Given the description of an element on the screen output the (x, y) to click on. 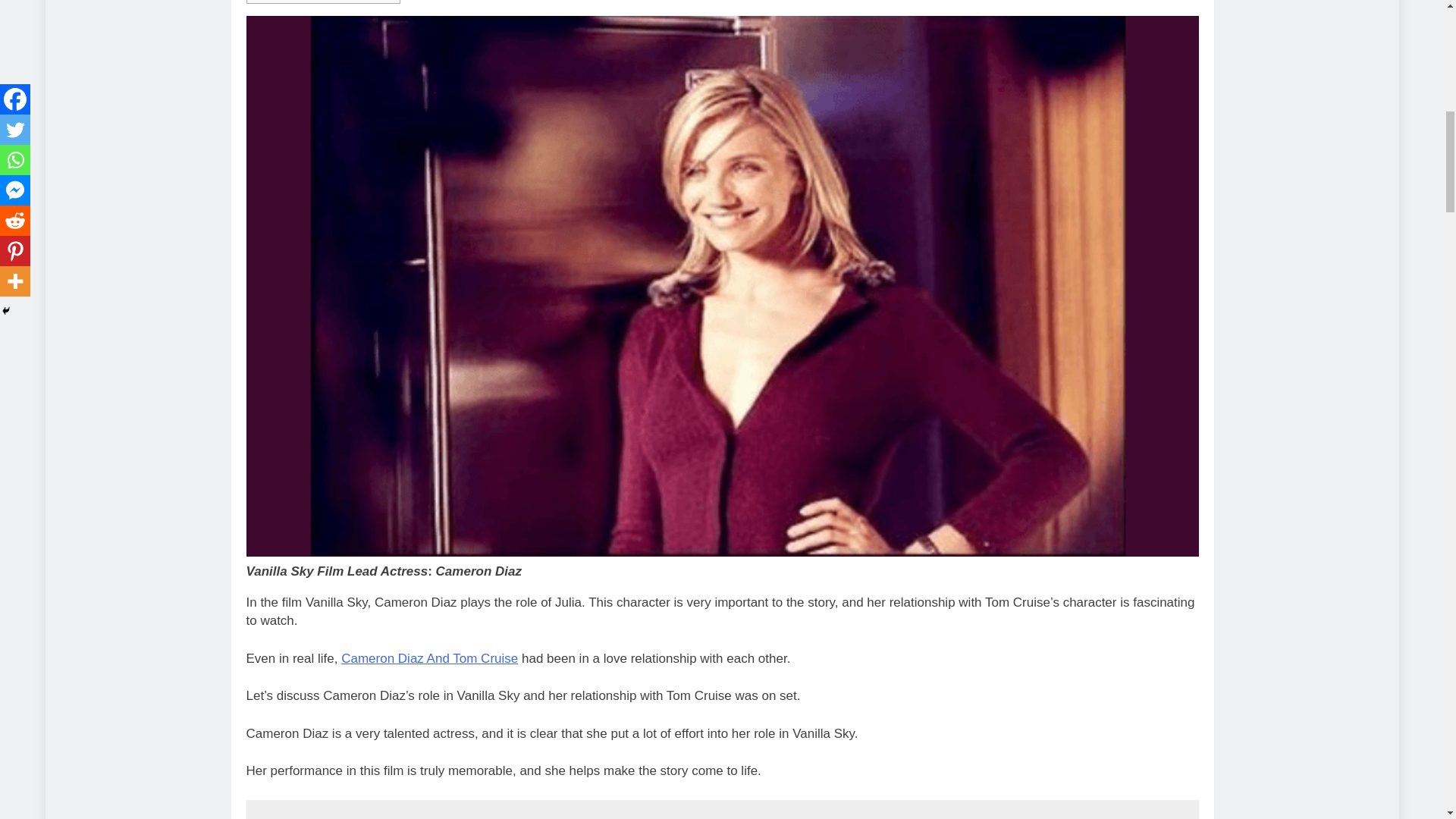
Cameron Diaz And Tom Cruise (429, 658)
